Given the description of an element on the screen output the (x, y) to click on. 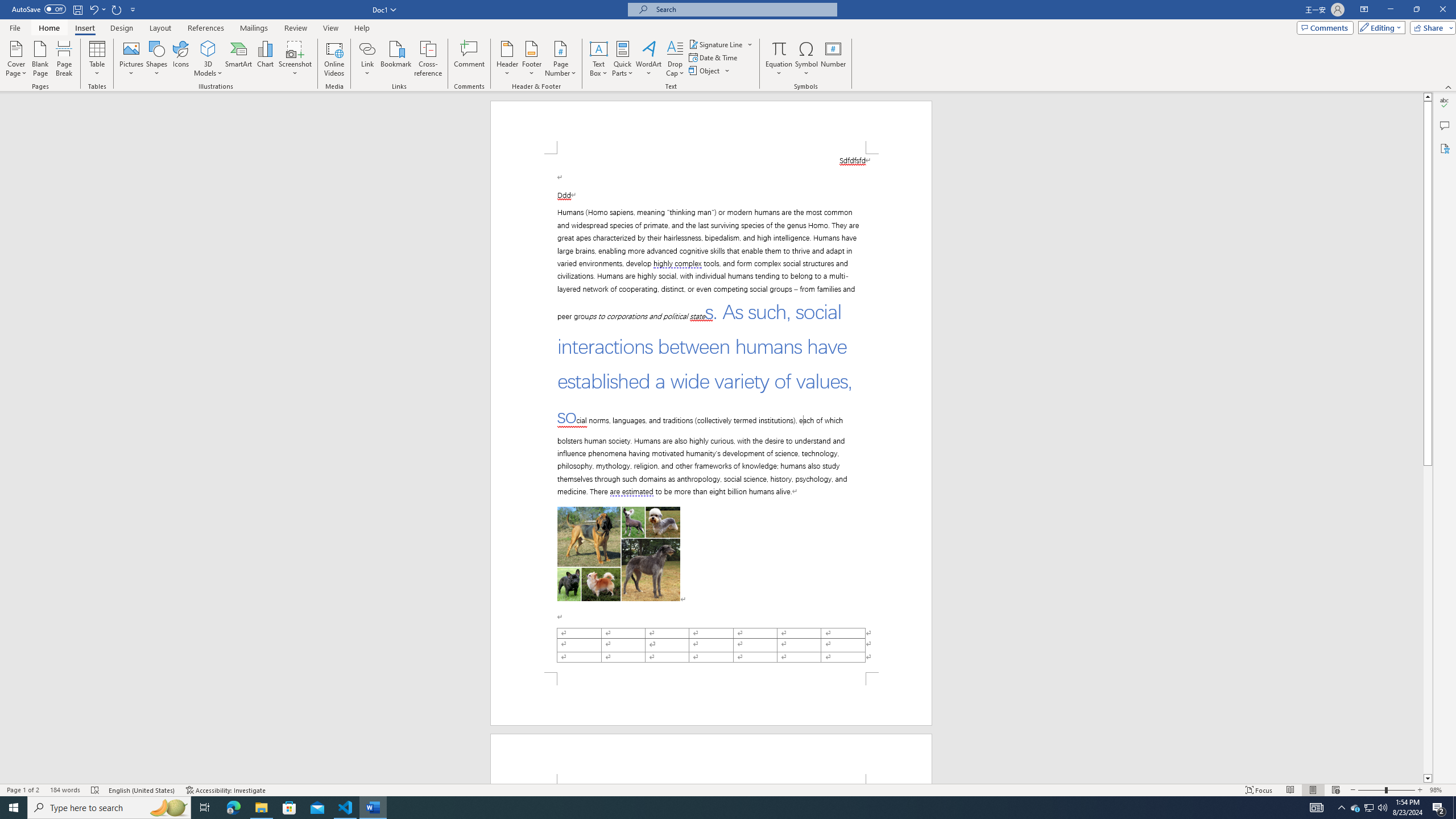
Number... (833, 58)
Date & Time... (714, 56)
Morphological variation in six dogs (618, 553)
Class: NetUIScrollBar (1427, 437)
Comment (469, 58)
Shapes (156, 58)
3D Models (208, 58)
Equation (778, 48)
Quick Parts (622, 58)
Class: MsoCommandBar (728, 789)
